Given the description of an element on the screen output the (x, y) to click on. 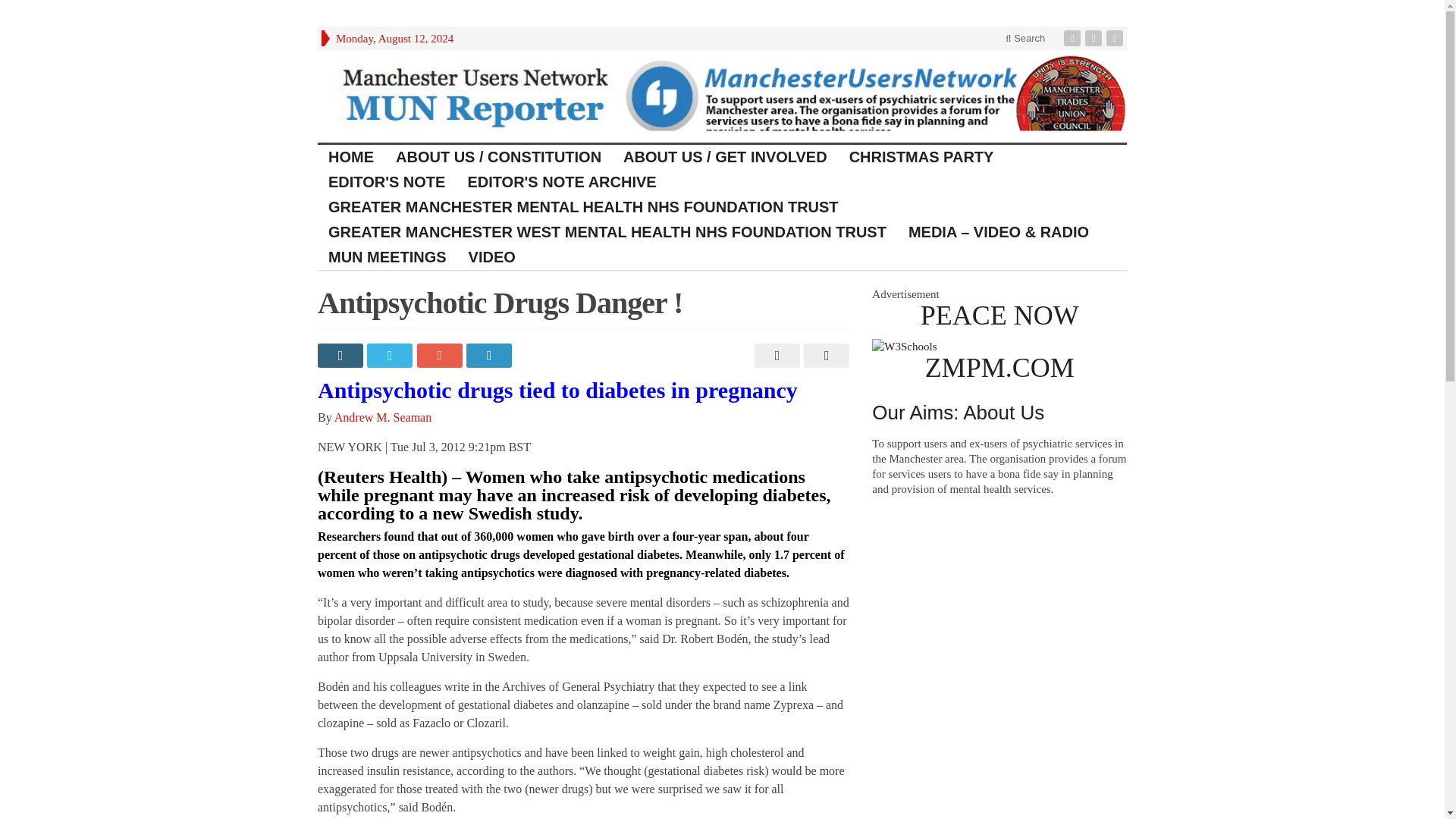
HOME (351, 156)
MUN MEETINGS (387, 257)
CHRISTMAS PARTY (922, 156)
EDITOR'S NOTE ARCHIVE (561, 181)
Share on LinkedIn (490, 355)
Print This Post (775, 355)
Andrew M. Seaman (382, 417)
ZMPM.COM (999, 367)
EDITOR'S NOTE (387, 181)
GREATER MANCHESTER MENTAL HEALTH NHS FOUNDATION TRUST (583, 207)
